Given the description of an element on the screen output the (x, y) to click on. 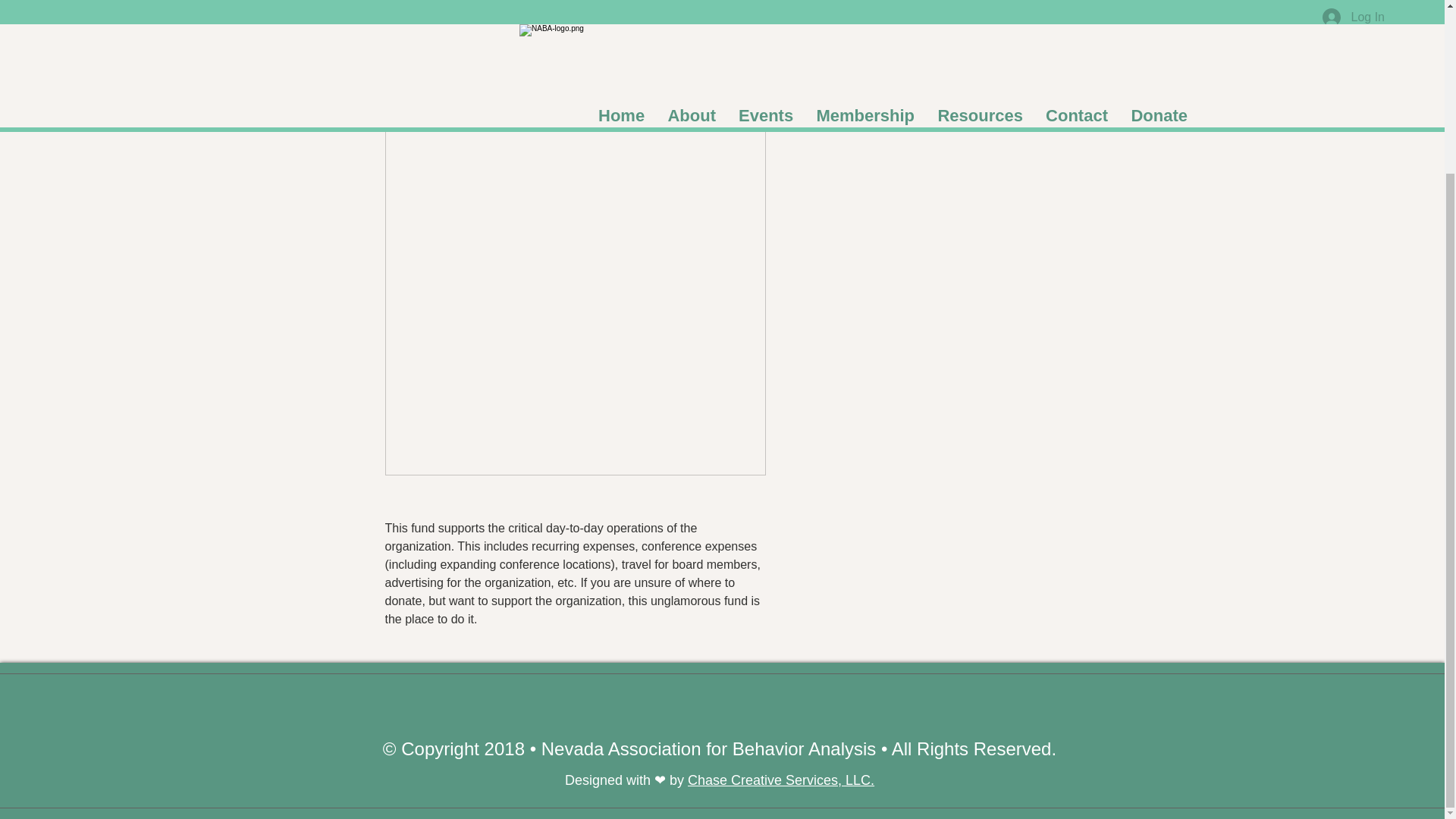
Add to Cart (924, 58)
Chase Creative Services, LLC. (781, 780)
